Given the description of an element on the screen output the (x, y) to click on. 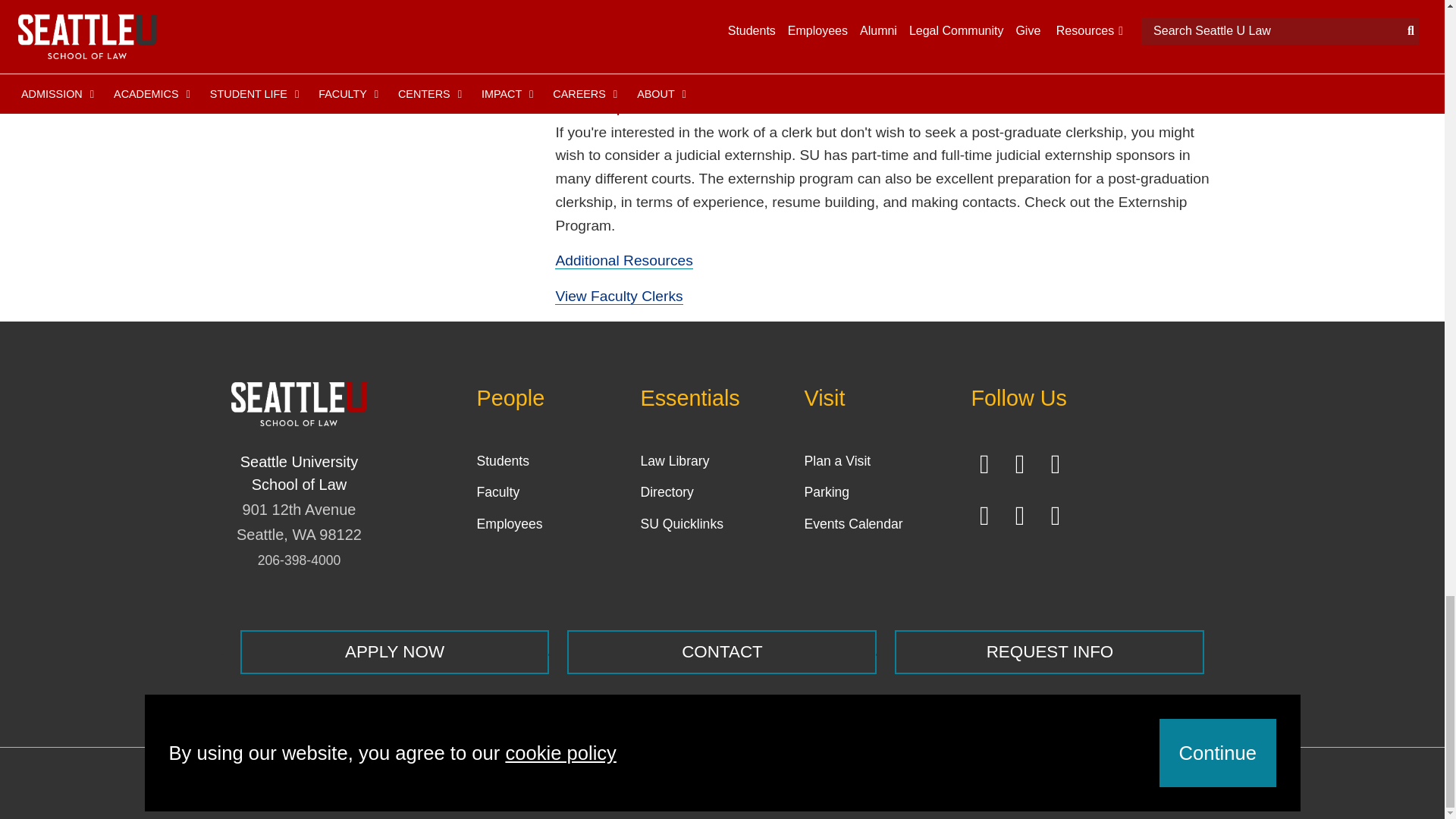
Apply to Seattle U Law programs (394, 651)
